Given the description of an element on the screen output the (x, y) to click on. 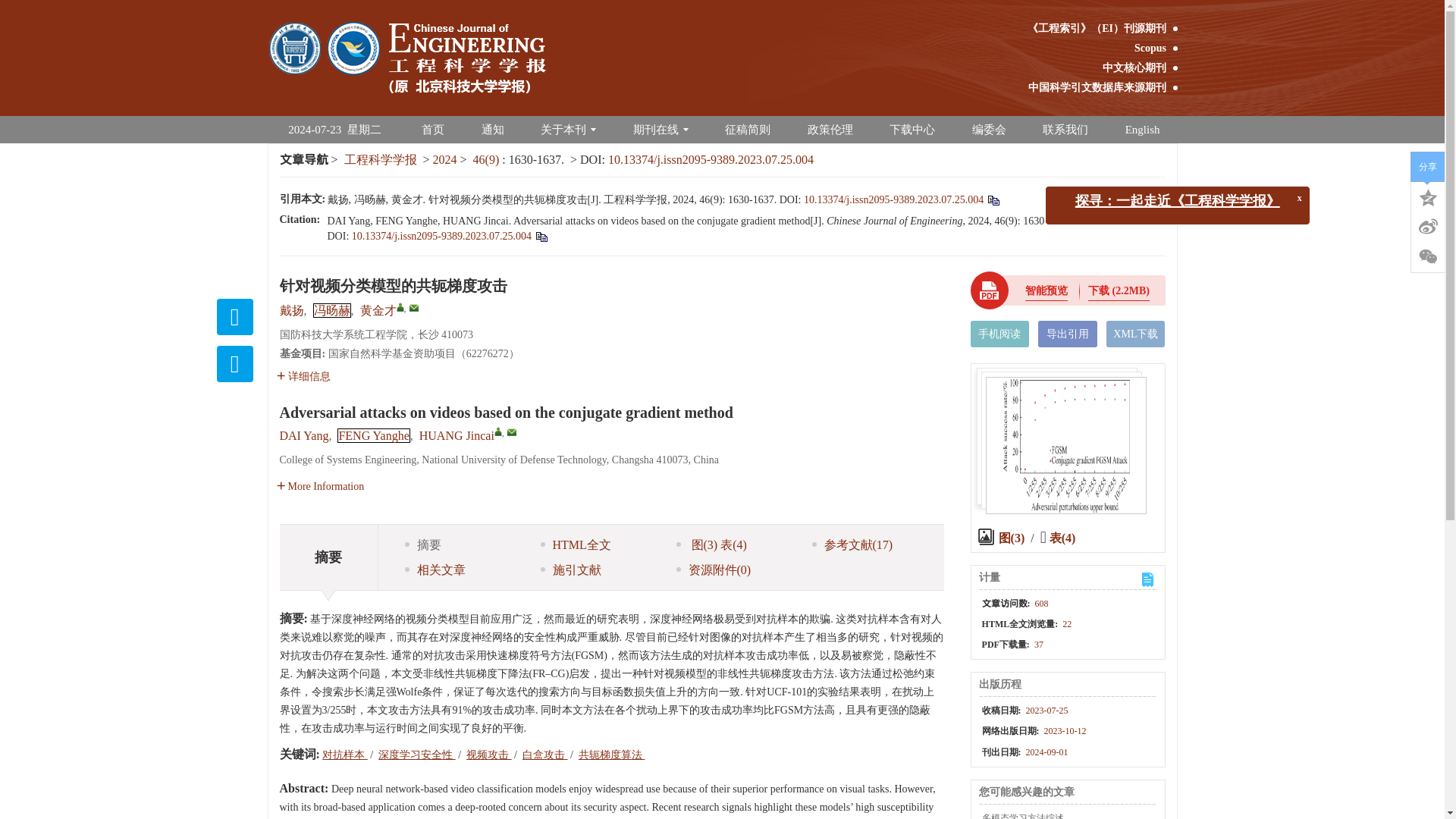
copy to clipboard (540, 235)
English (1142, 129)
